Given the description of an element on the screen output the (x, y) to click on. 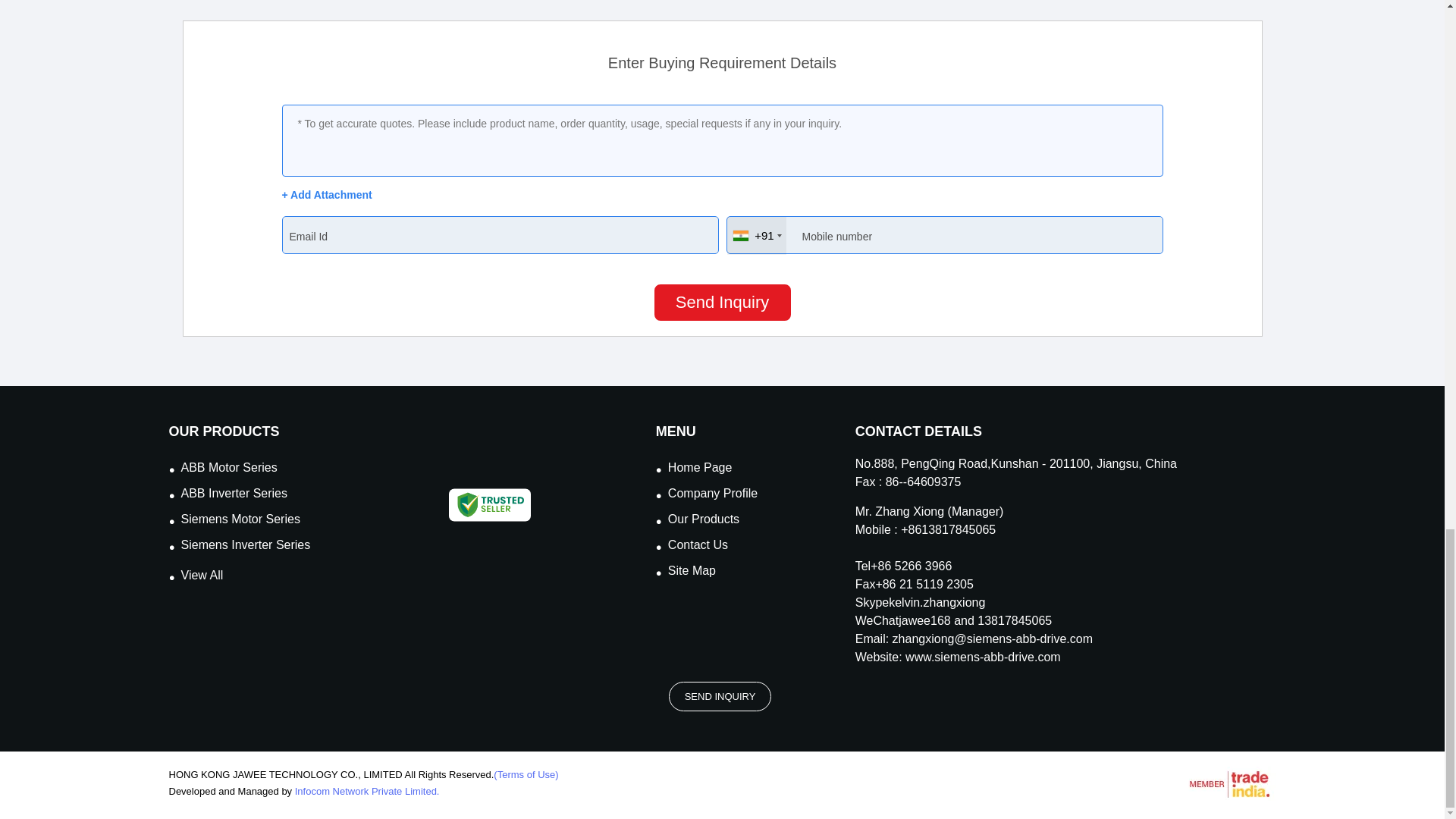
Send Inquiry (721, 302)
